Given the description of an element on the screen output the (x, y) to click on. 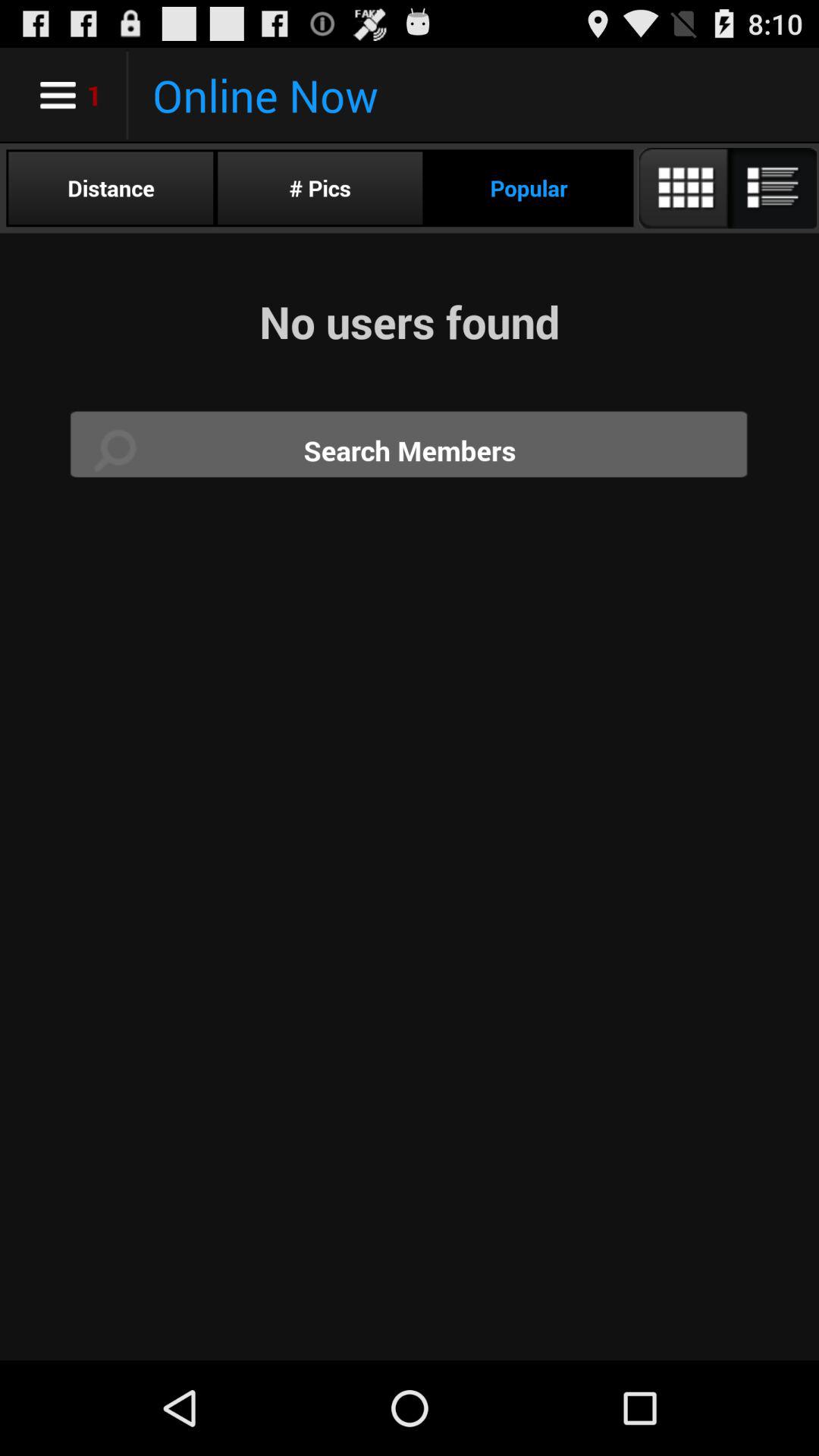
click icon to the right of the distance icon (319, 187)
